Given the description of an element on the screen output the (x, y) to click on. 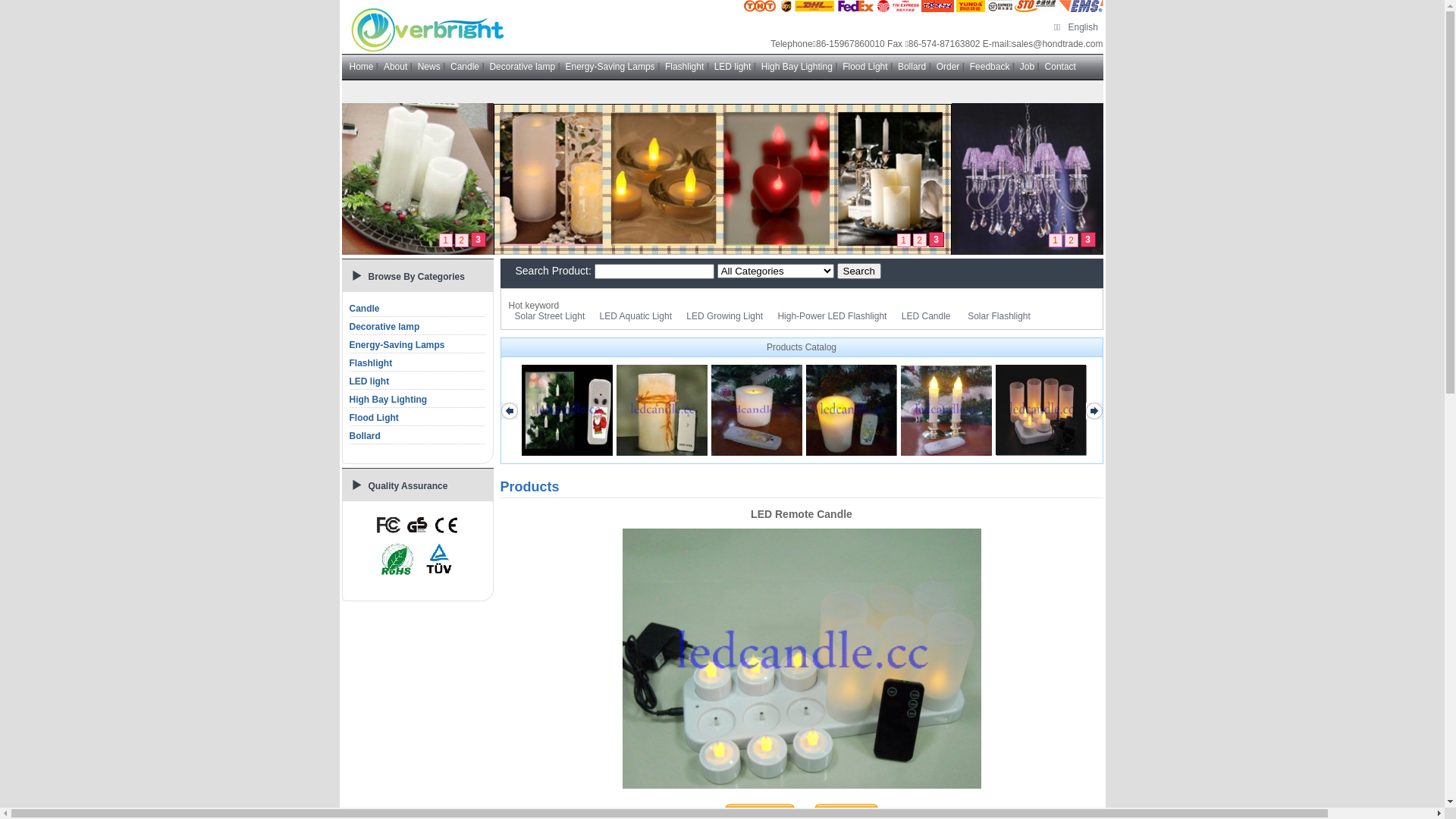
test1 Element type: hover (721, 178)
High Bay Lighting Element type: text (796, 66)
LED Candle  Element type: text (927, 315)
Search Element type: text (859, 271)
Decorative lamp Element type: text (383, 326)
Job Element type: text (1026, 66)
Feedback Element type: text (989, 66)
LED light Element type: text (732, 66)
Bollard Element type: text (363, 435)
Energy-Saving Lamps Element type: text (416, 344)
Decorative lamp Element type: text (522, 66)
LED light Element type: text (416, 381)
Flood Light Element type: text (416, 417)
LED Aquatic Light Element type: text (635, 315)
High Bay Lighting Element type: text (416, 399)
Solar Street Light Element type: text (549, 315)
Order Element type: text (948, 66)
Candle Element type: text (363, 308)
Flood Light Element type: text (864, 66)
High-Power LED Flashlight Element type: text (831, 315)
Solar Flashlight Element type: text (998, 315)
LED light Element type: text (368, 381)
Candle Element type: text (464, 66)
Flood Light Element type: text (373, 417)
LED Growing Light Element type: text (724, 315)
Energy-Saving Lamps Element type: text (610, 66)
Bollard Element type: text (911, 66)
Bollard Element type: text (416, 435)
Flashlight Element type: text (416, 363)
Contact Element type: text (1060, 66)
About Element type: text (395, 66)
News Element type: text (428, 66)
English Element type: text (1082, 26)
Home Element type: text (360, 66)
Flashlight Element type: text (684, 66)
Energy-Saving Lamps Element type: text (396, 344)
Candle Element type: text (416, 308)
Flashlight Element type: text (370, 362)
Decorative lamp Element type: text (416, 326)
High Bay Lighting Element type: text (387, 399)
